Given the description of an element on the screen output the (x, y) to click on. 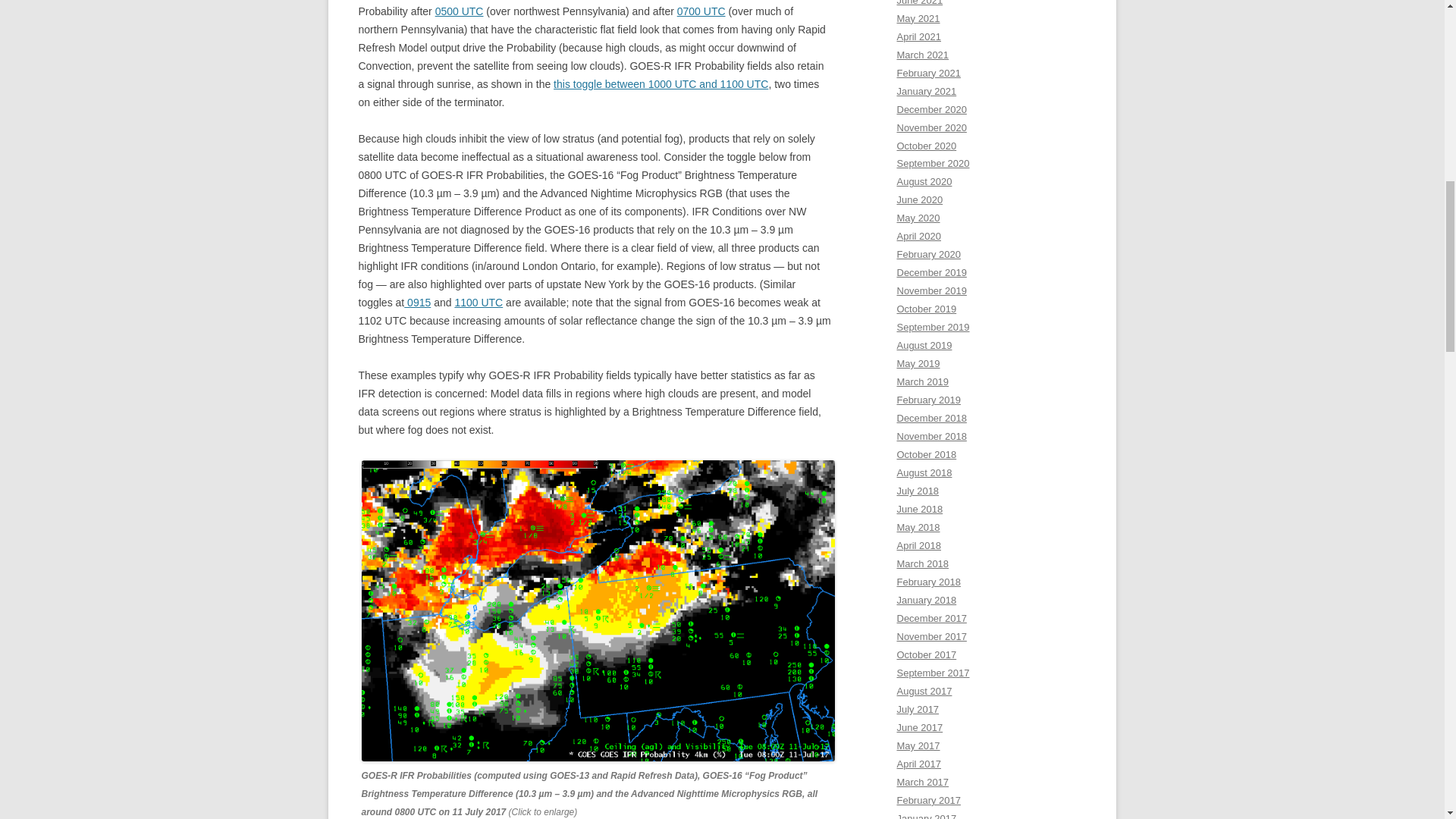
0500 UTC (459, 10)
February 2021 (927, 72)
this toggle between 1000 UTC and 1100 UTC (660, 83)
April 2021 (918, 36)
1100 UTC (478, 302)
June 2021 (919, 2)
0915 (417, 302)
March 2021 (922, 54)
May 2021 (917, 18)
0700 UTC (701, 10)
